Given the description of an element on the screen output the (x, y) to click on. 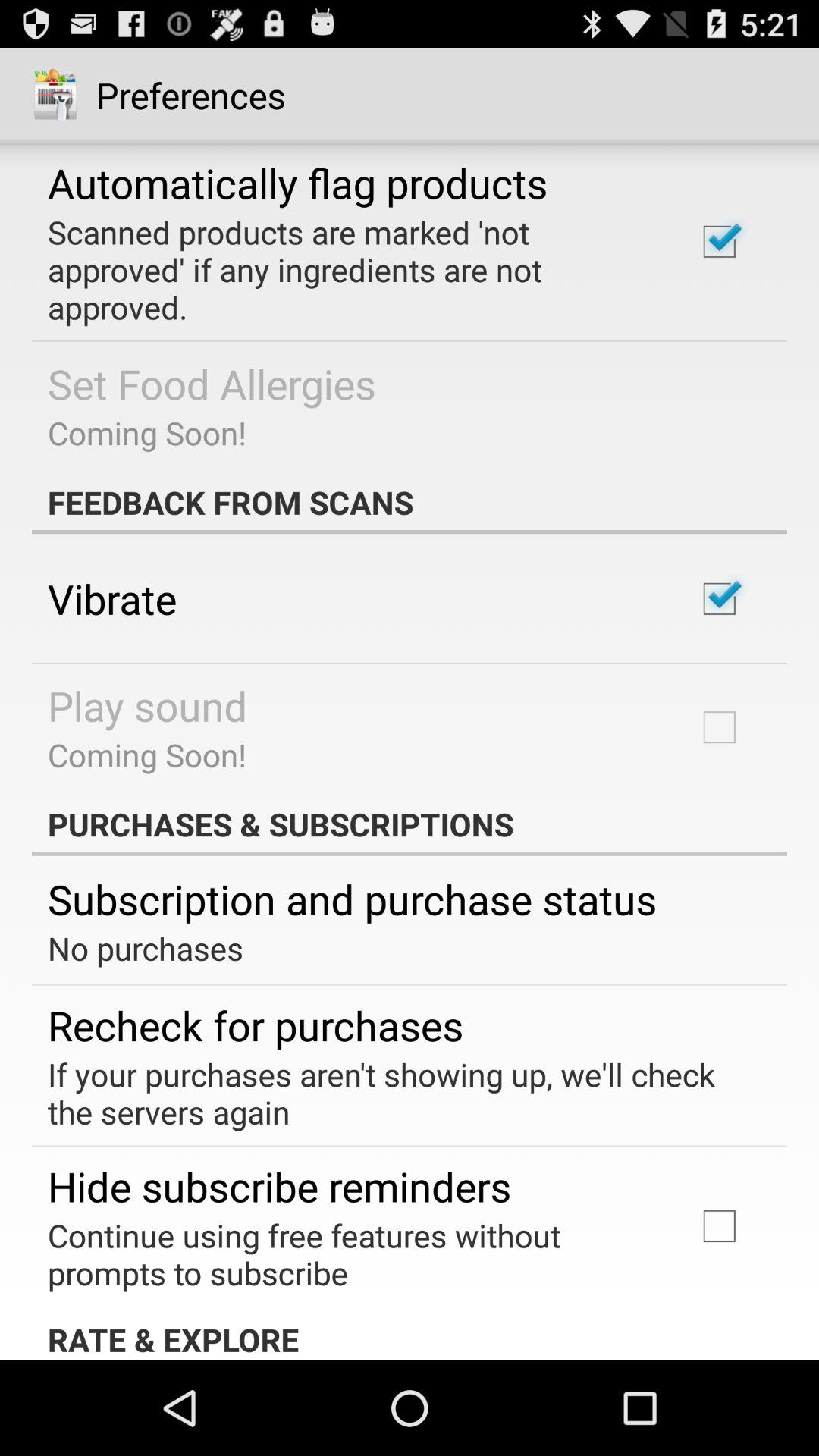
tap the set food allergies (211, 383)
